Given the description of an element on the screen output the (x, y) to click on. 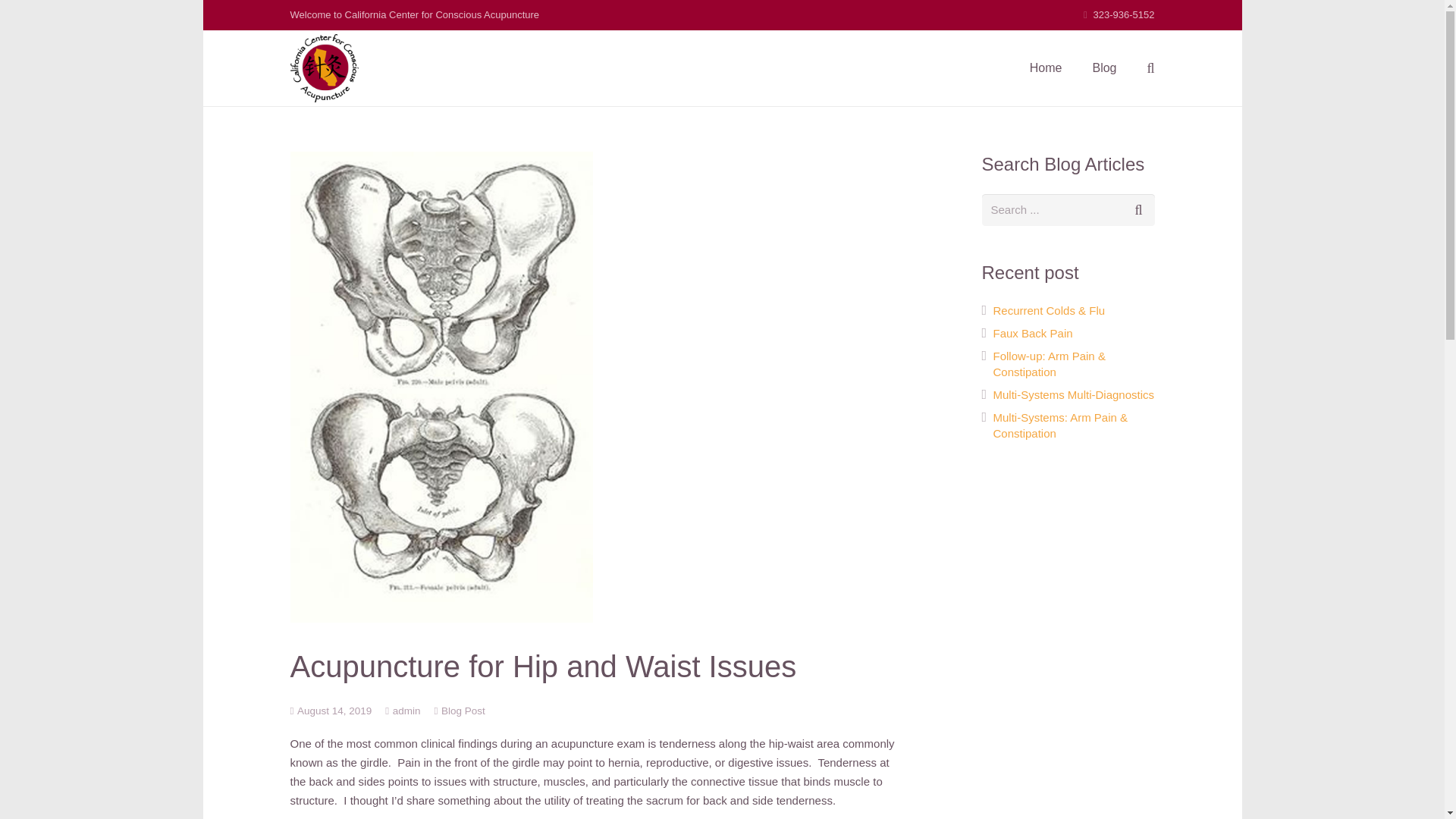
Blog (1104, 67)
Blog Post (462, 710)
Home (1045, 67)
Multi-Systems Multi-Diagnostics (1073, 394)
admin (406, 710)
Faux Back Pain (1032, 332)
